Given the description of an element on the screen output the (x, y) to click on. 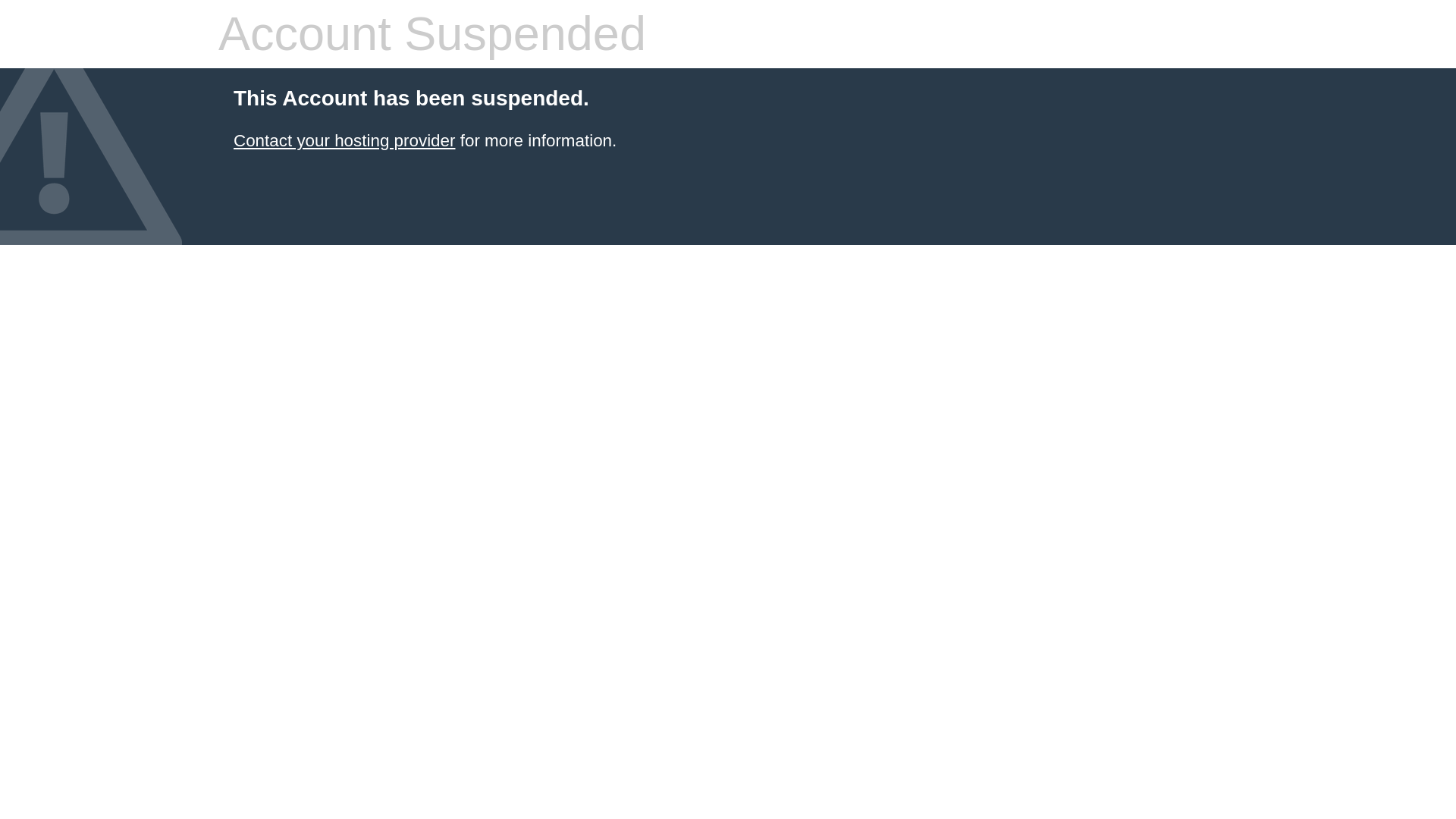
Contact your hosting provider (343, 140)
